Given the description of an element on the screen output the (x, y) to click on. 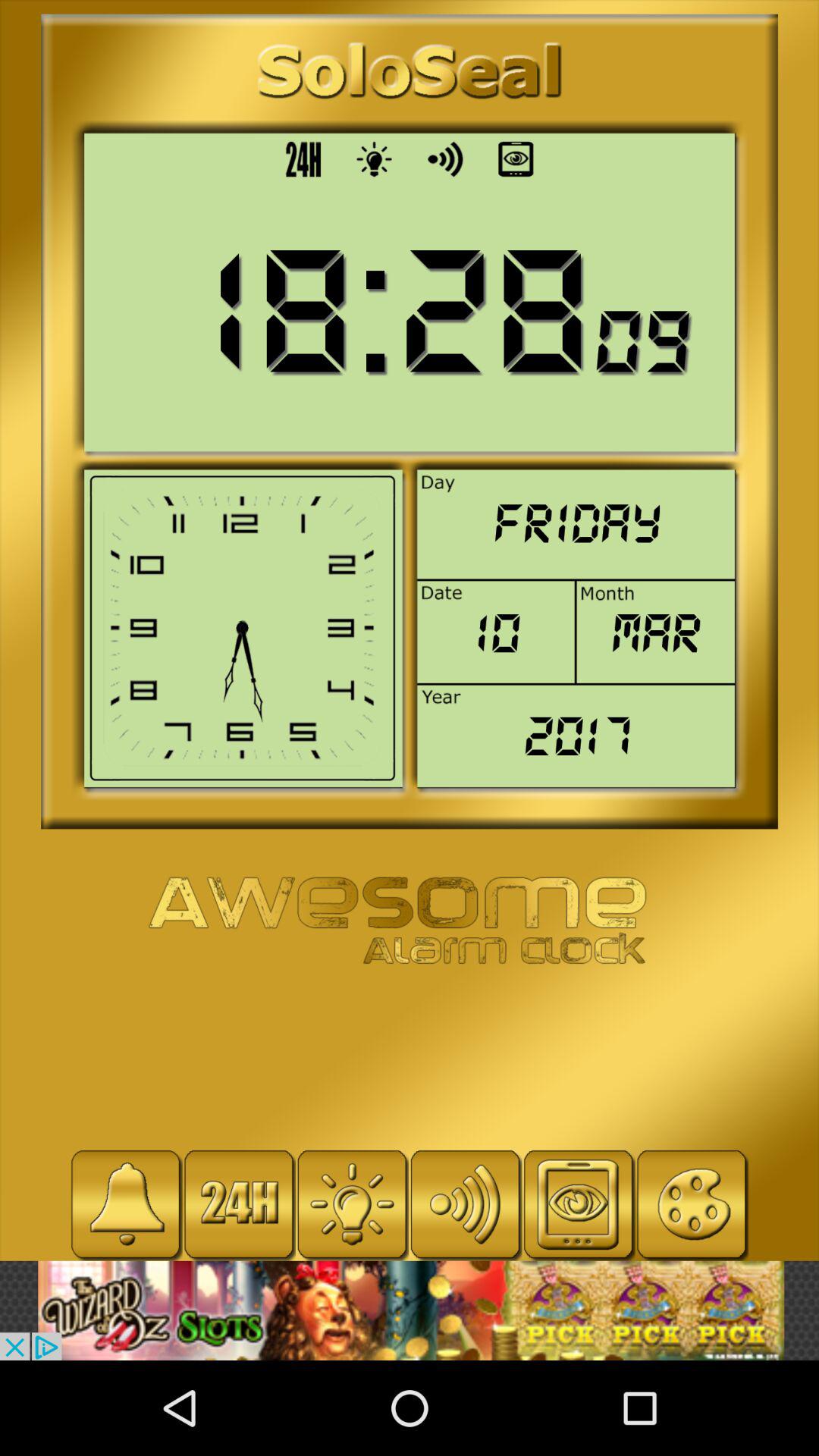
keep screen awake (578, 1203)
